Given the description of an element on the screen output the (x, y) to click on. 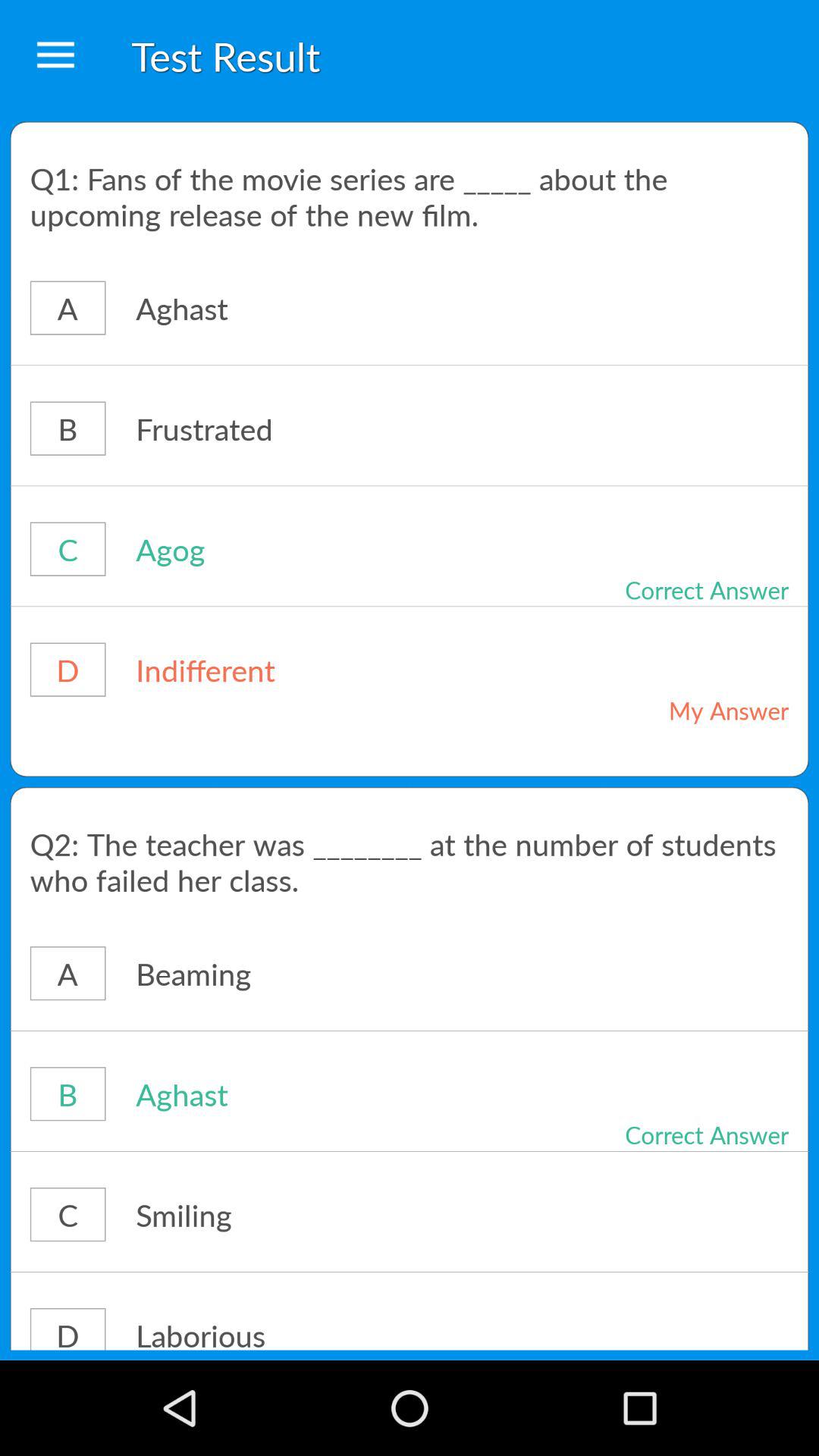
turn on the item to the left of my answer icon (313, 669)
